Given the description of an element on the screen output the (x, y) to click on. 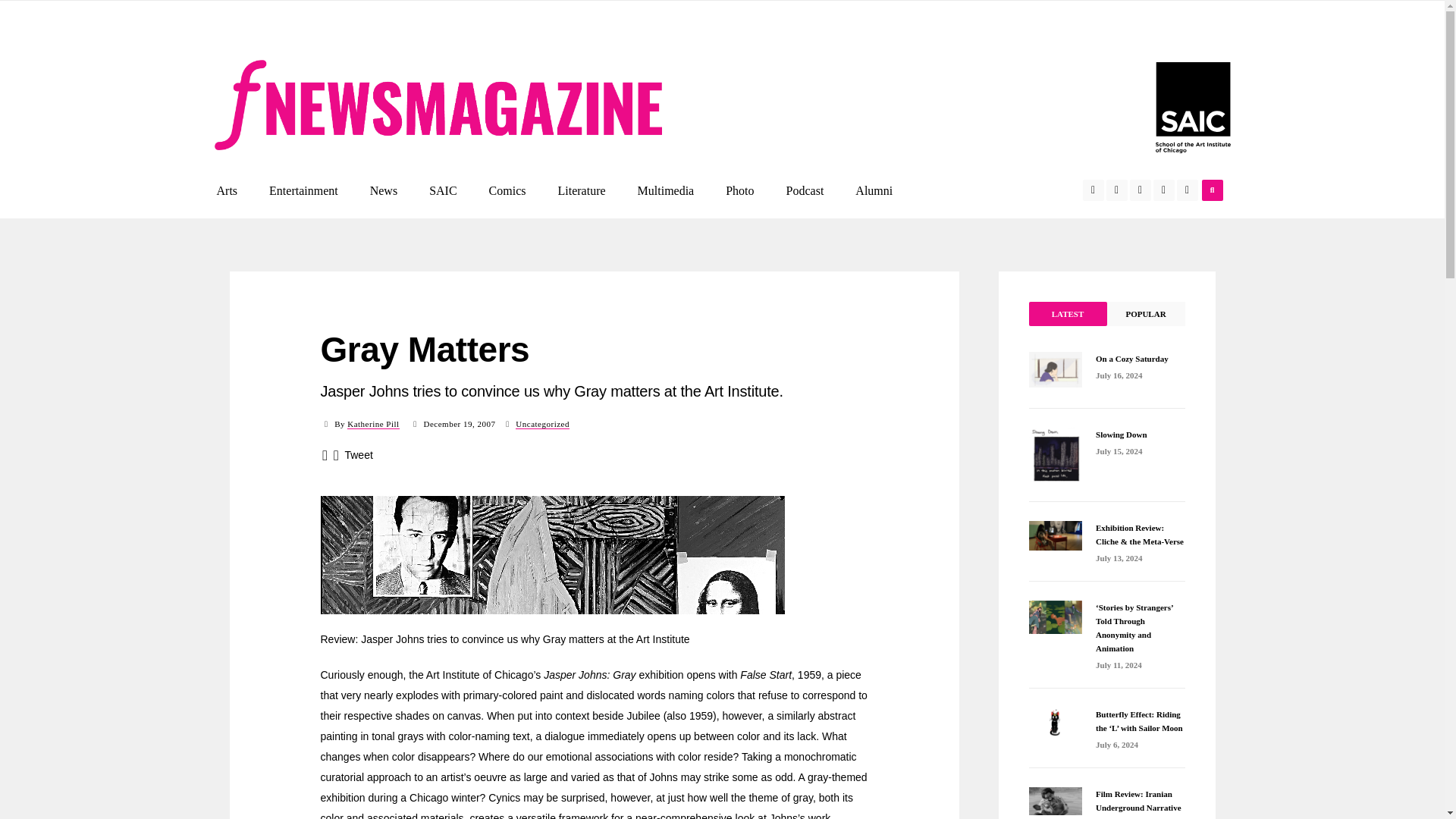
Arts (226, 189)
Entertainment (303, 189)
